Given the description of an element on the screen output the (x, y) to click on. 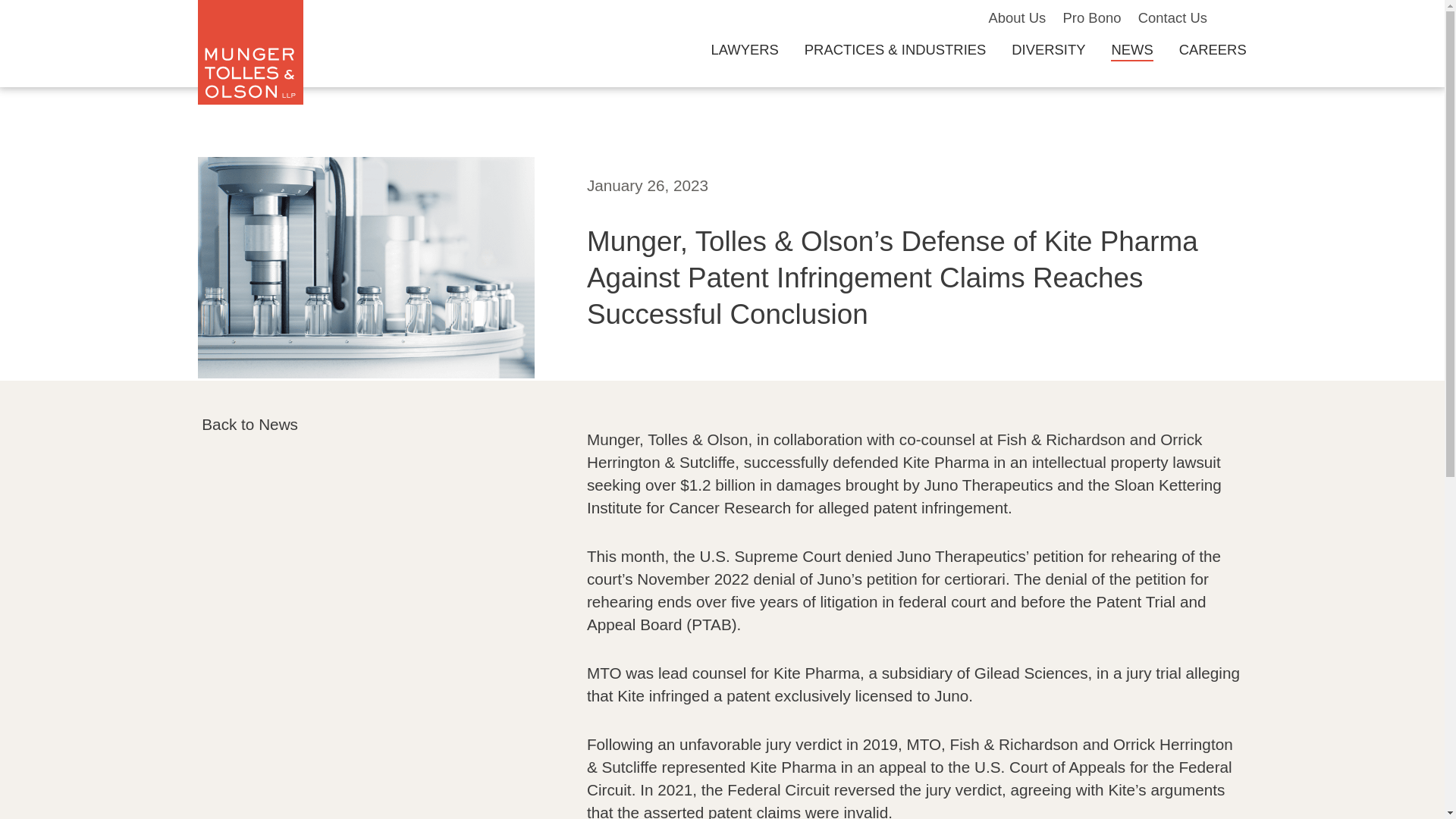
About Us (1016, 17)
Contact Us (1172, 17)
Pro Bono (1091, 17)
LAWYERS (743, 49)
